Given the description of an element on the screen output the (x, y) to click on. 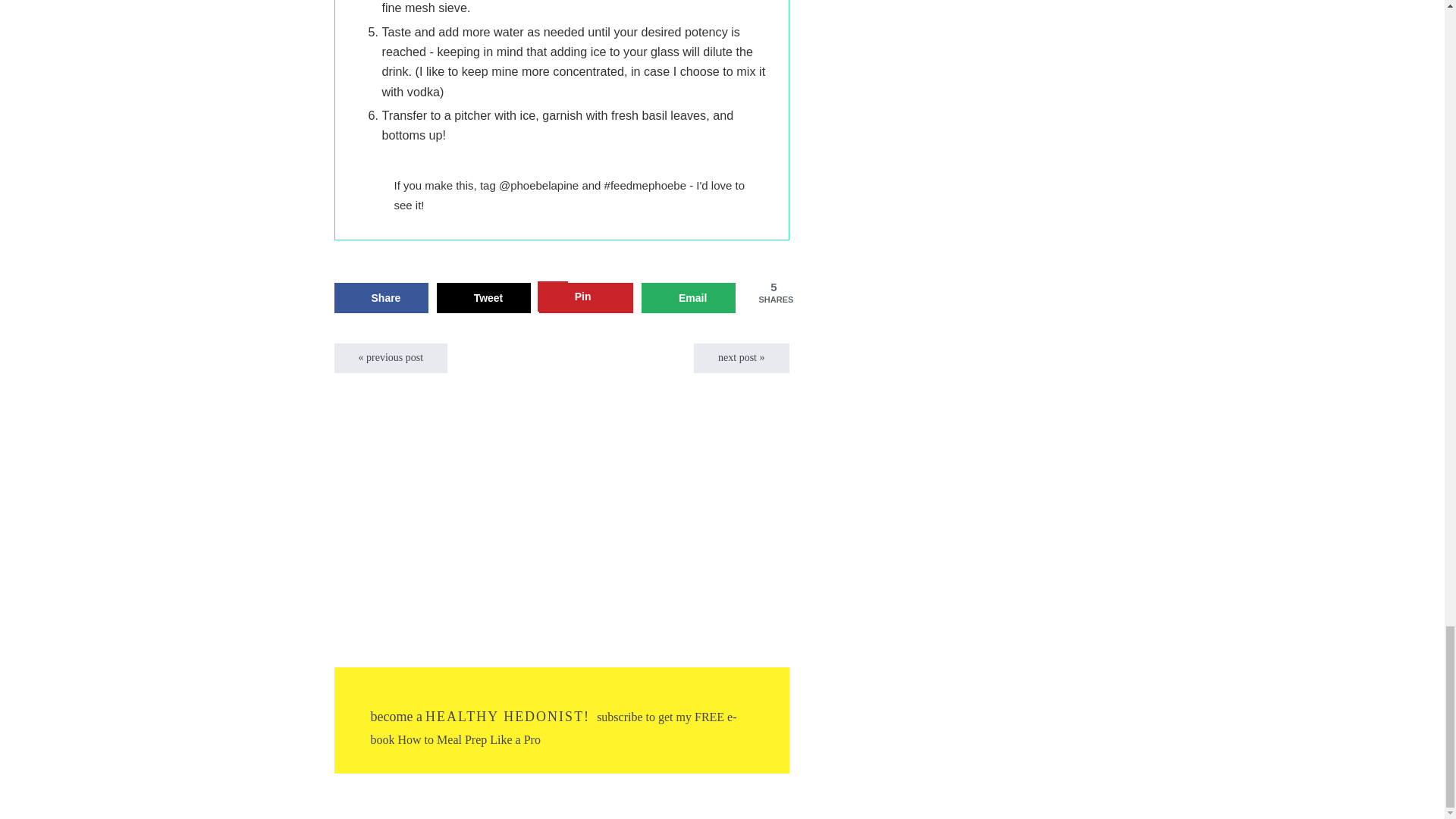
Share on X (483, 297)
Share on Facebook (380, 297)
Save to Pinterest (585, 297)
Send over email (689, 297)
Share (380, 297)
Email (689, 297)
Pin (585, 297)
Tweet (483, 297)
